Given the description of an element on the screen output the (x, y) to click on. 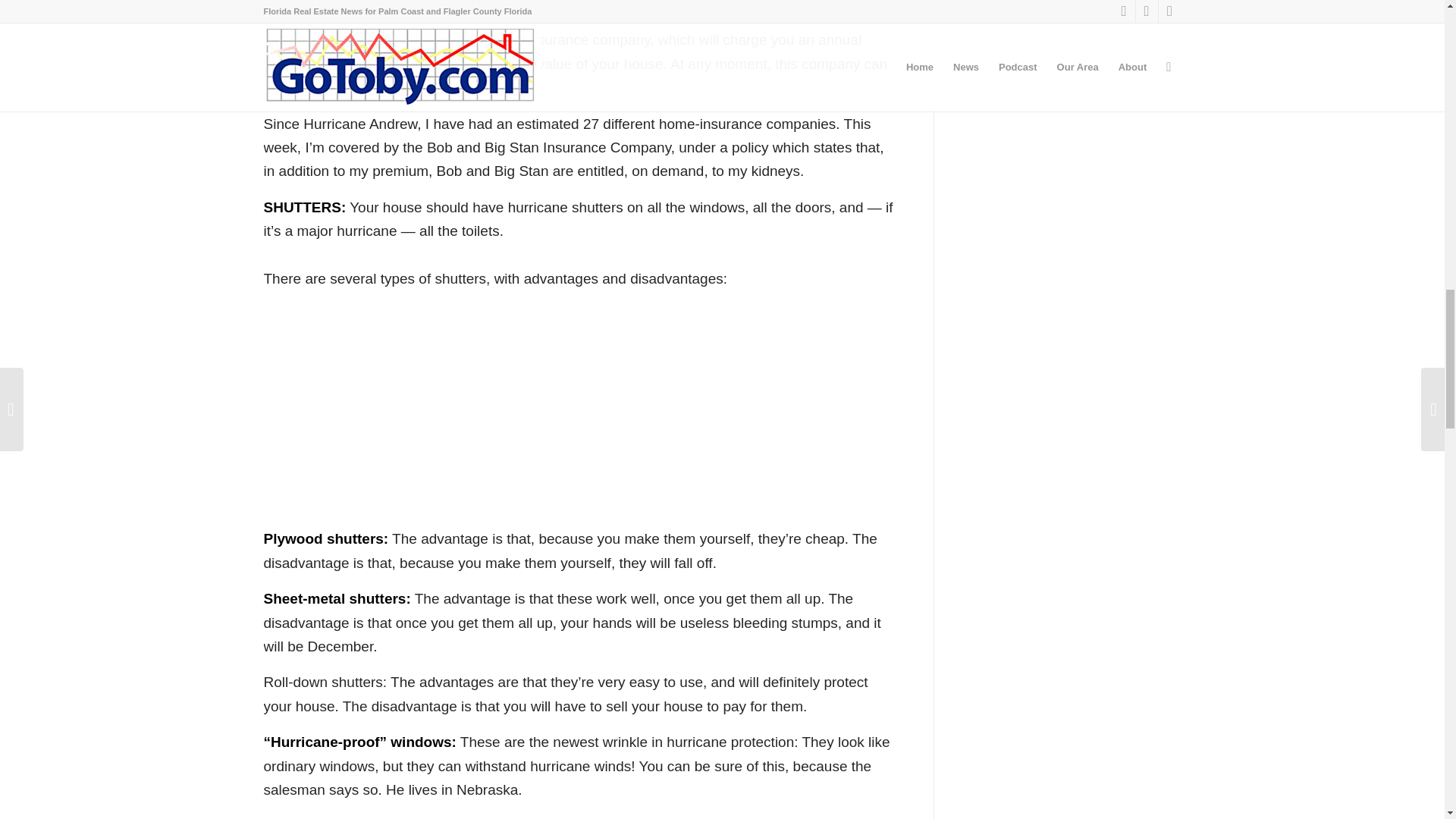
Advertisement (579, 7)
